Given the description of an element on the screen output the (x, y) to click on. 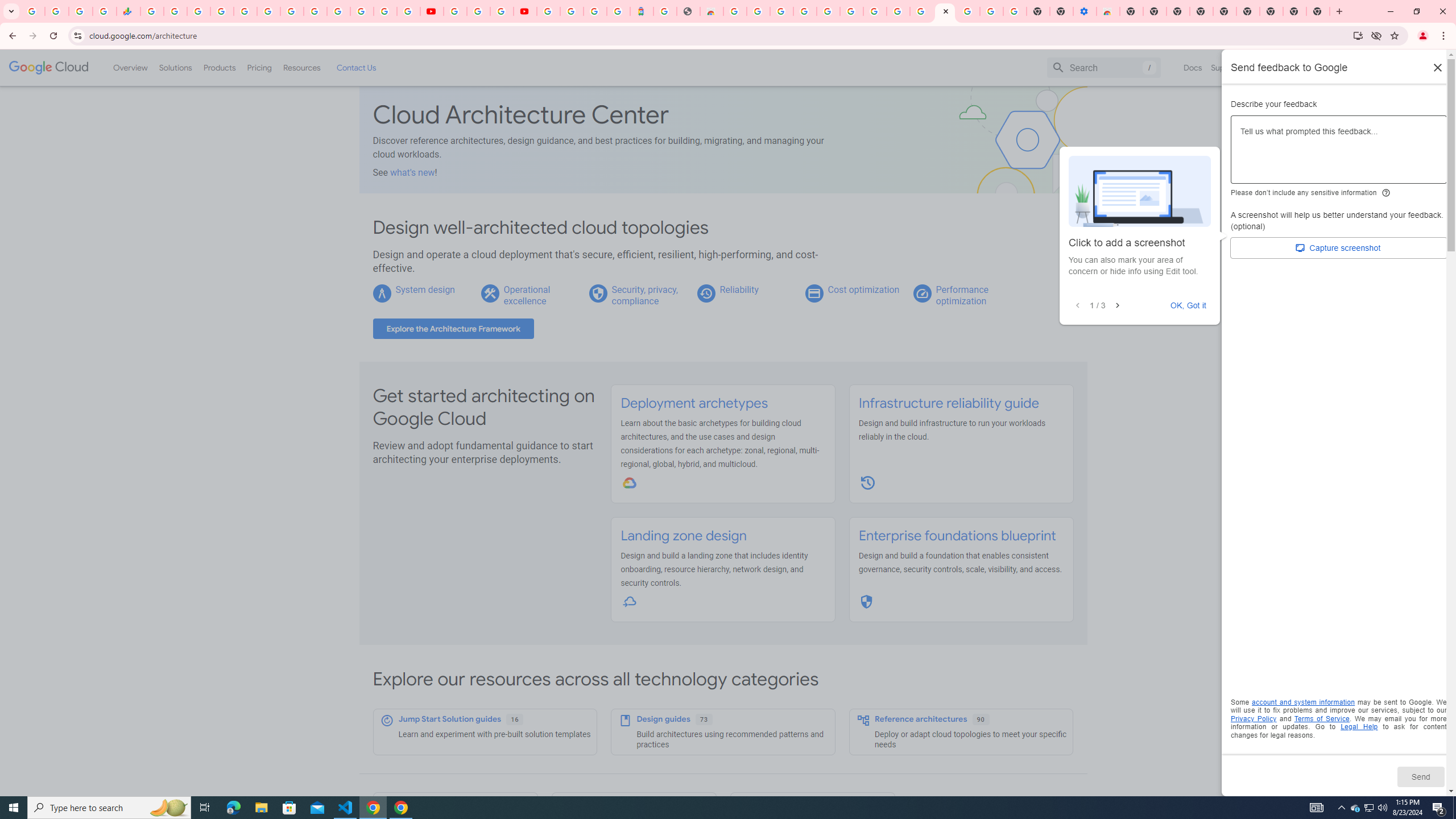
Next (1117, 305)
Performance optimization (962, 295)
Sign in - Google Accounts (221, 11)
account and system information (1303, 702)
New Tab (1318, 11)
Security, privacy, compliance (644, 295)
Pricing (259, 67)
